Given the description of an element on the screen output the (x, y) to click on. 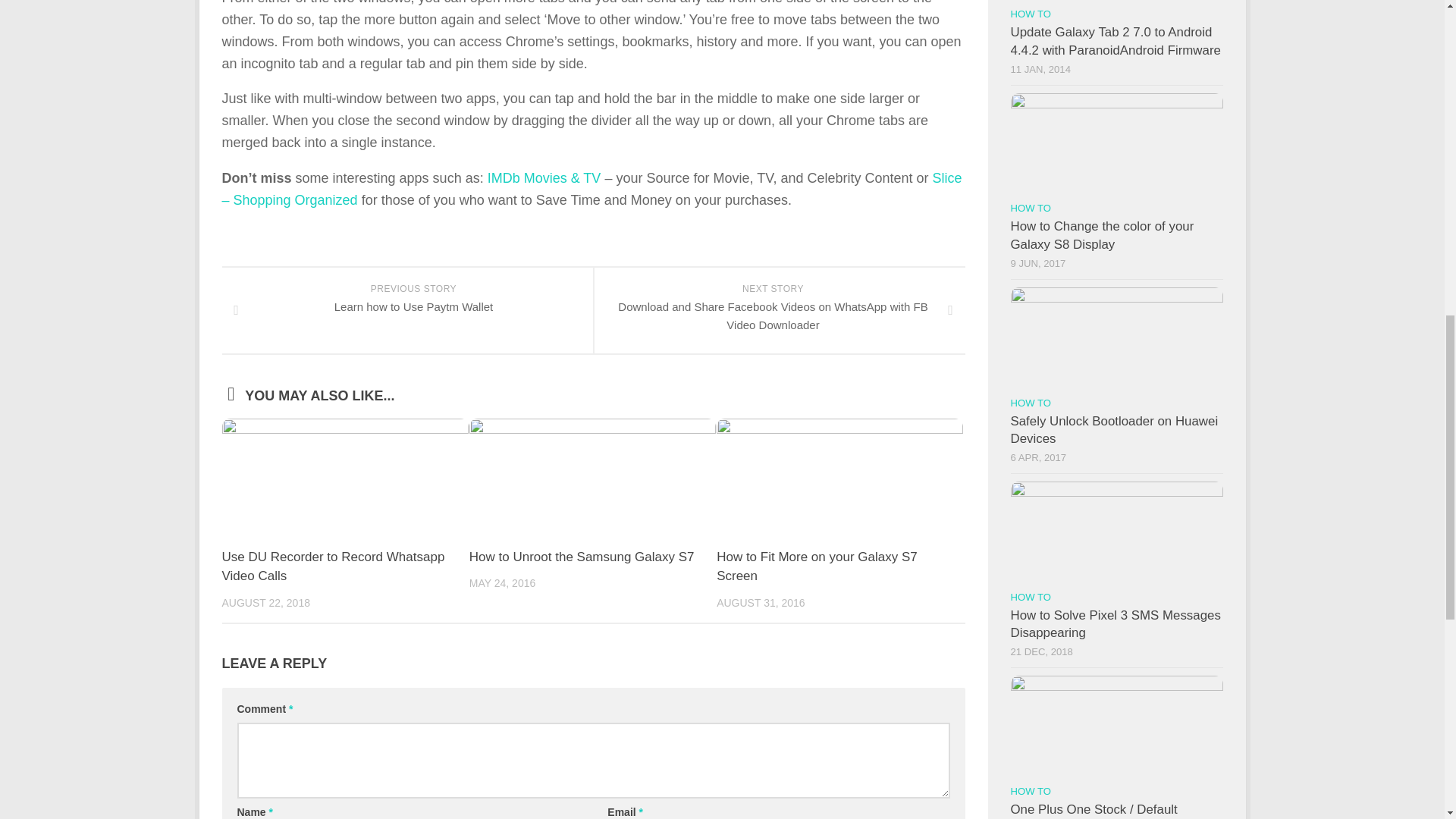
How to Unroot the Samsung Galaxy S7 (581, 556)
Permalink to Use DU Recorder to Record Whatsapp Video Calls (332, 566)
How to Fit More on your Galaxy S7 Screen (816, 566)
Permalink to How to Unroot the Samsung Galaxy S7 (406, 309)
Use DU Recorder to Record Whatsapp Video Calls (581, 556)
Permalink to How to Fit More on your Galaxy S7 Screen (332, 566)
